Given the description of an element on the screen output the (x, y) to click on. 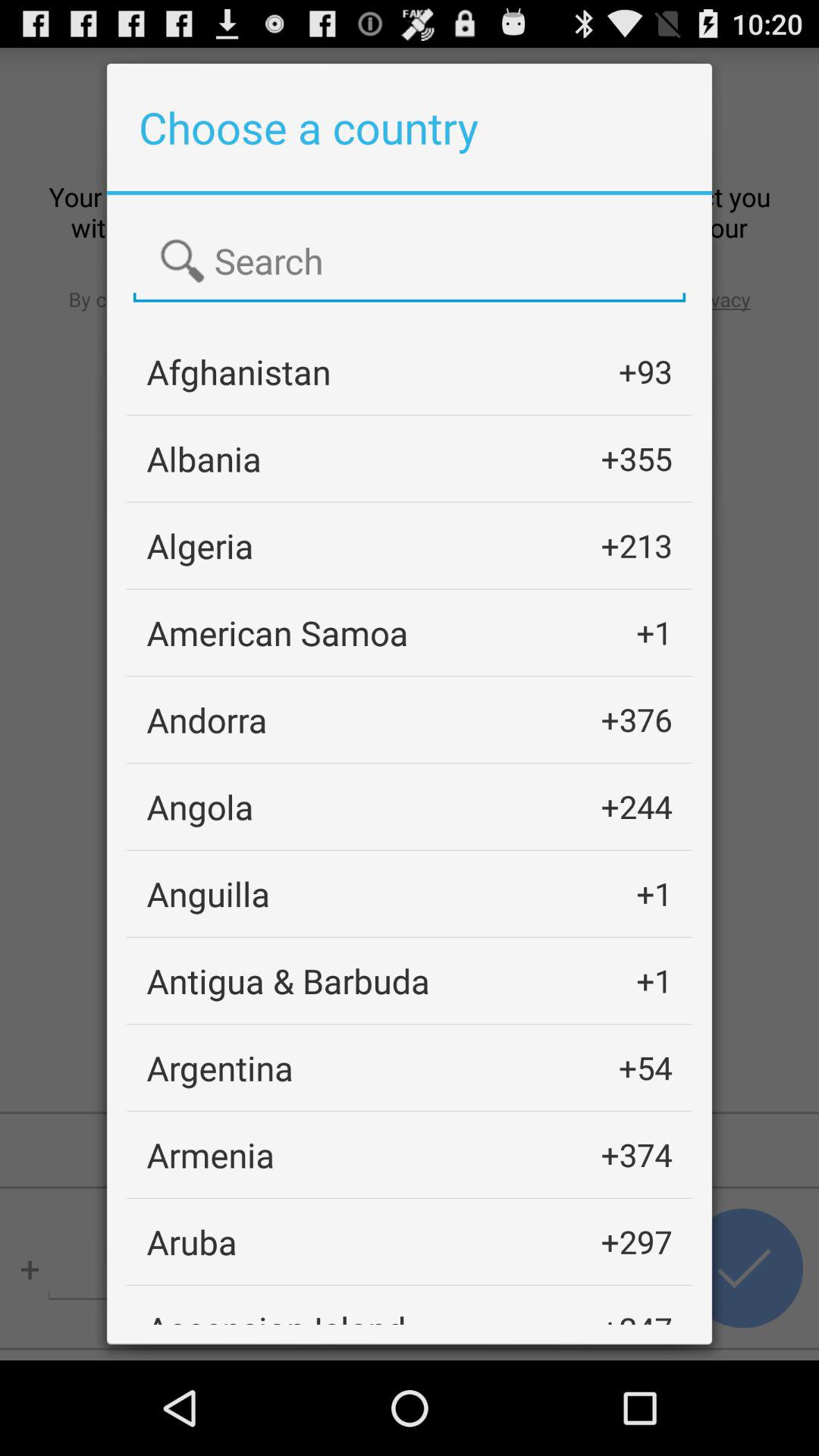
go to search (409, 261)
